Given the description of an element on the screen output the (x, y) to click on. 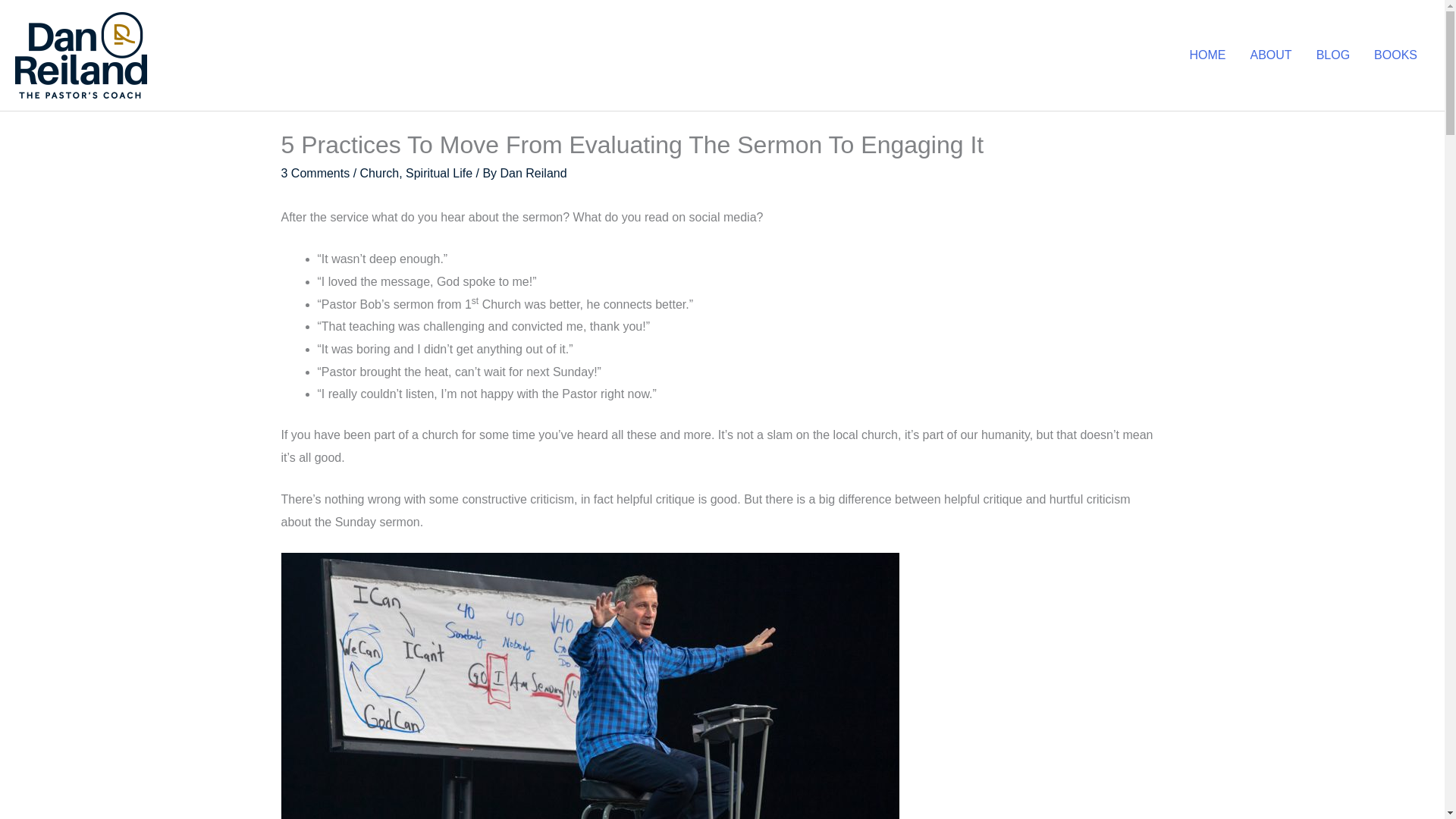
Spiritual Life (438, 173)
Church (378, 173)
Dan Reiland (533, 173)
3 Comments (315, 173)
ABOUT (1270, 54)
BLOG (1332, 54)
BOOKS (1395, 54)
HOME (1206, 54)
View all posts by Dan Reiland (533, 173)
